Given the description of an element on the screen output the (x, y) to click on. 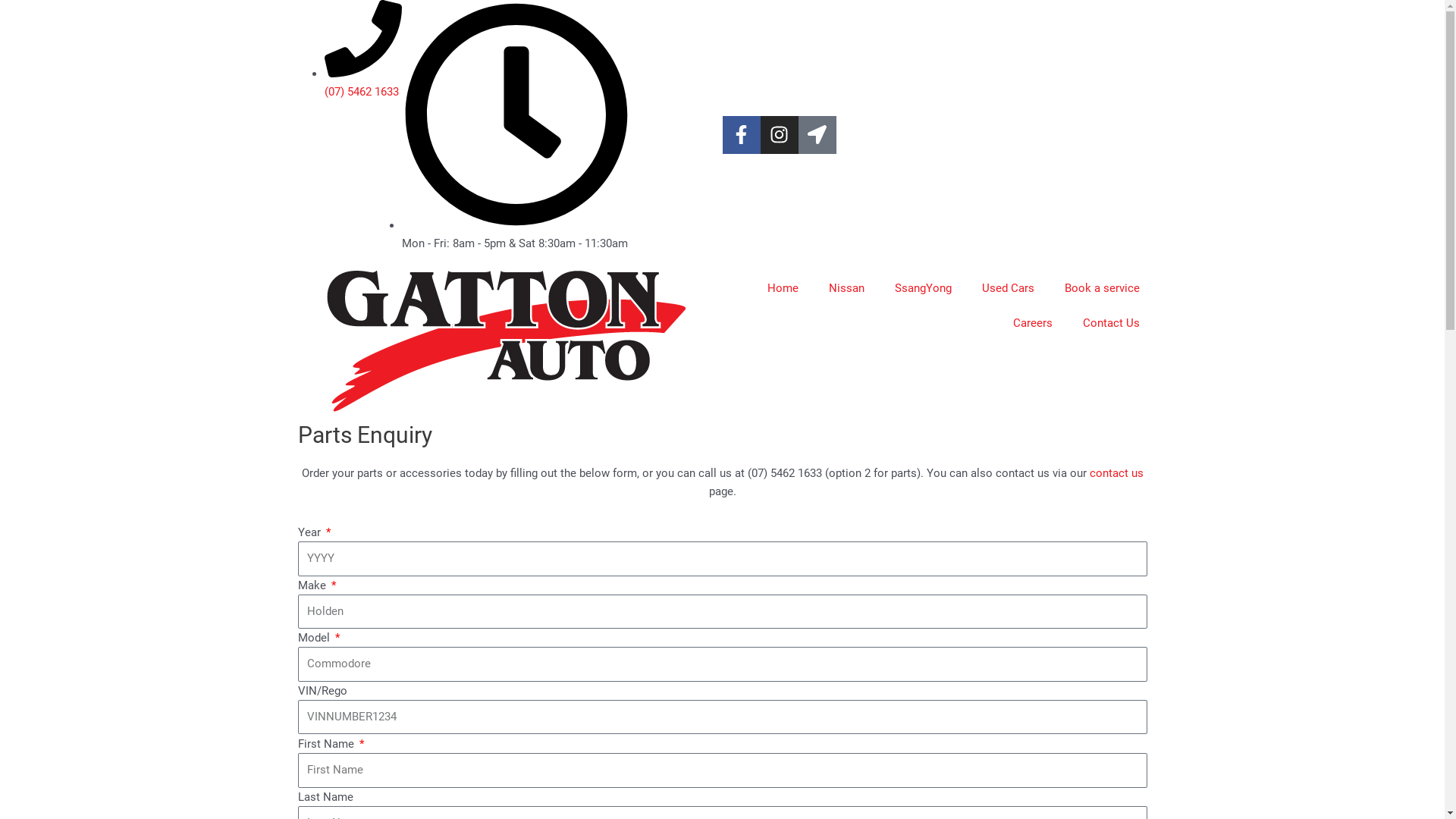
Book a service Element type: text (1101, 286)
Home Element type: text (782, 286)
Instagram Element type: text (778, 134)
contact us Element type: text (1115, 473)
SsangYong Element type: text (922, 286)
Used Cars Element type: text (1007, 286)
Contact Us Element type: text (1110, 321)
Nissan Element type: text (845, 286)
Careers Element type: text (1032, 321)
(07) 5462 1633 Element type: text (362, 82)
Location-arrow Element type: text (816, 134)
Facebook-f Element type: text (740, 134)
